Given the description of an element on the screen output the (x, y) to click on. 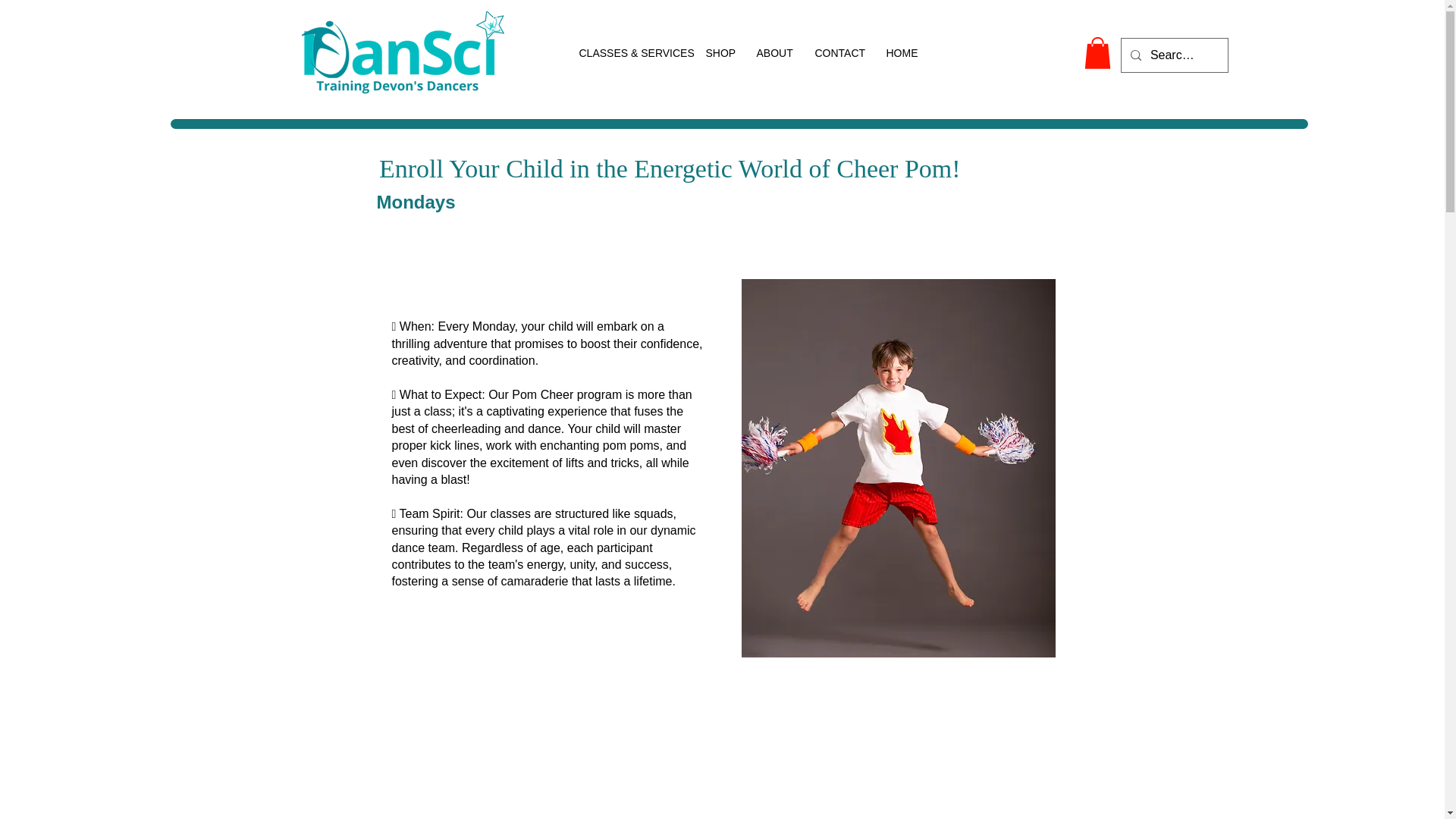
SHOP (719, 53)
CONTACT (839, 53)
HOME (902, 53)
ABOUT (773, 53)
